Given the description of an element on the screen output the (x, y) to click on. 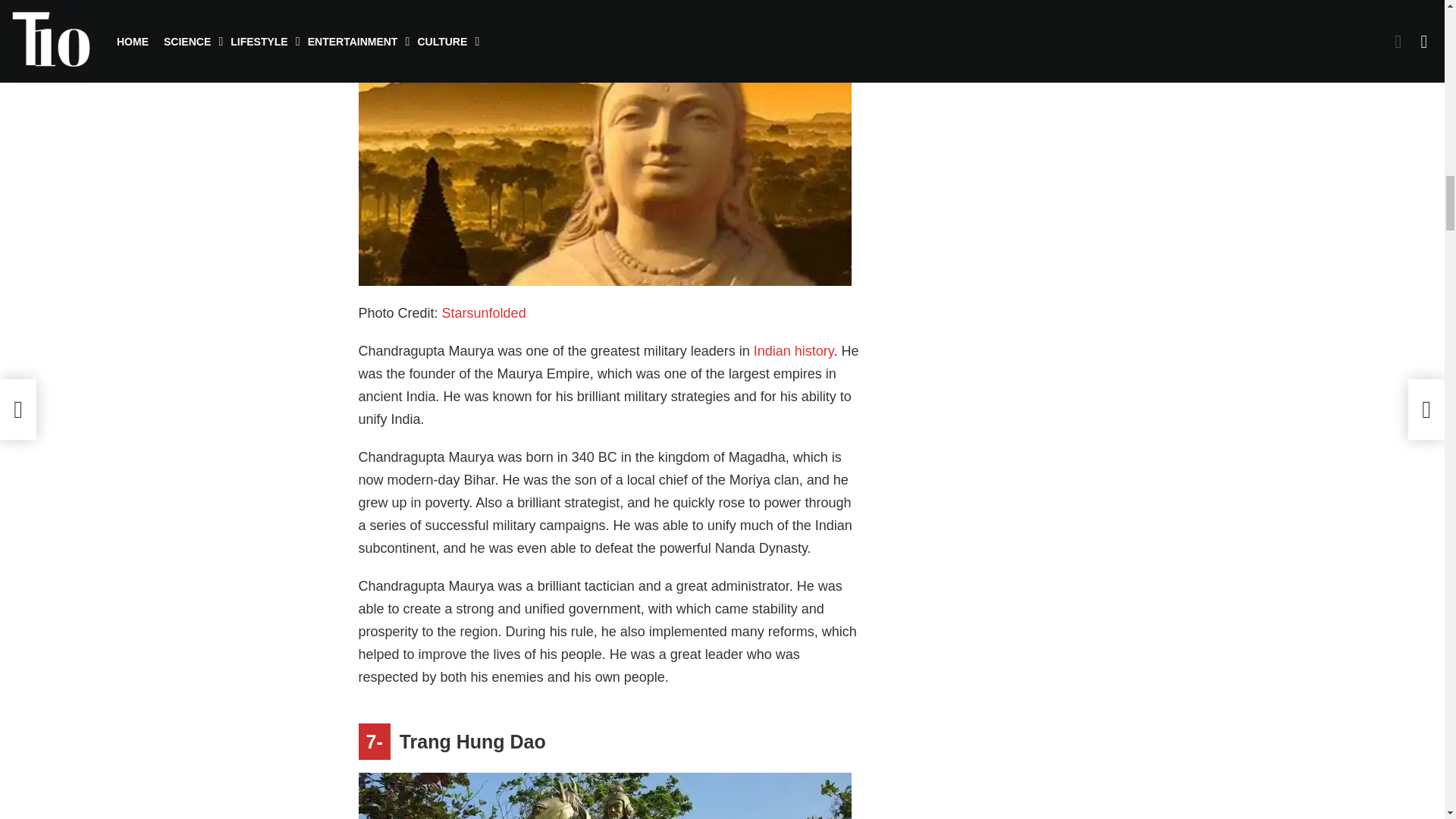
Starsunfolded (483, 313)
Indian history (794, 350)
